Given the description of an element on the screen output the (x, y) to click on. 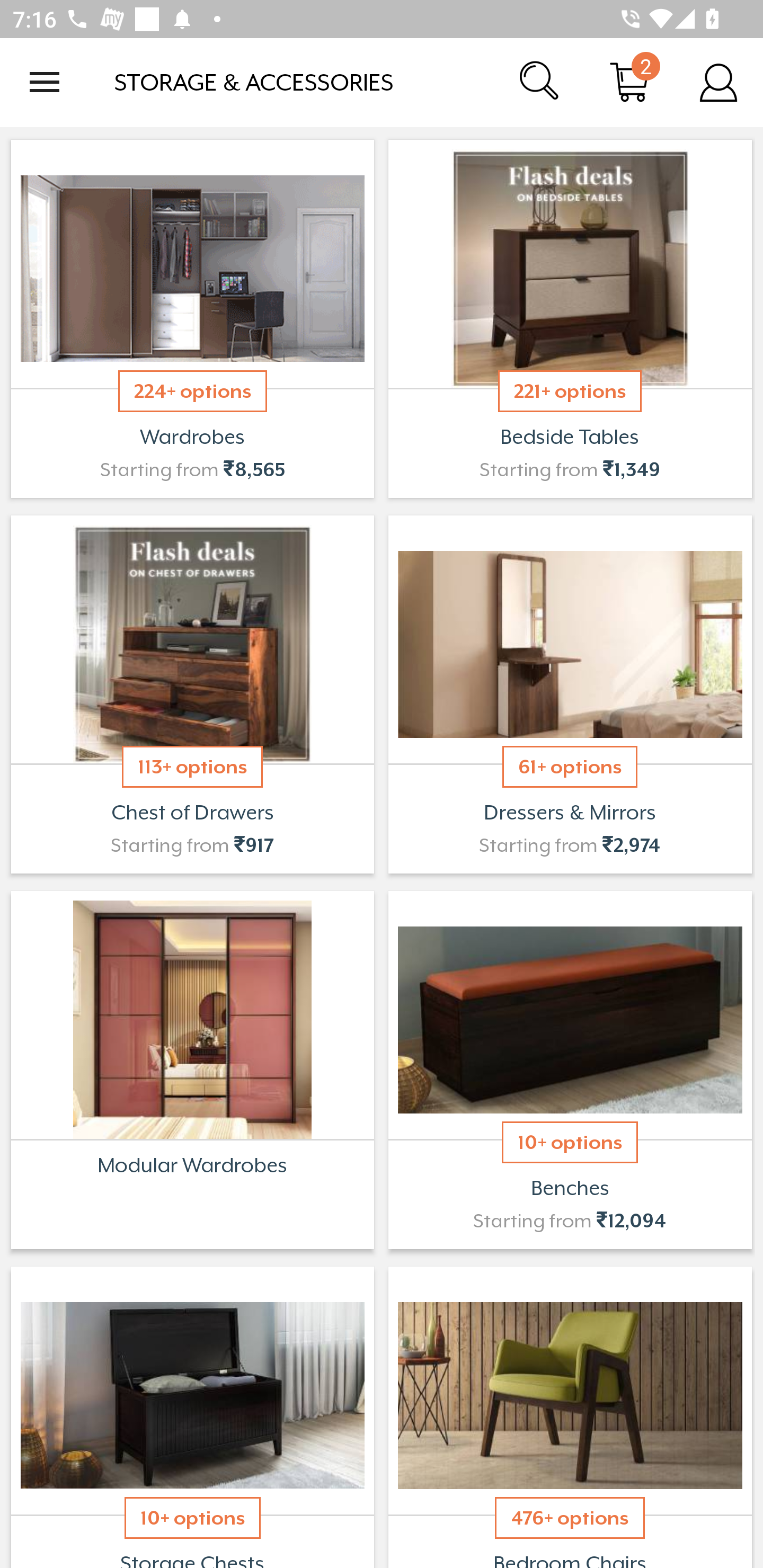
Open navigation drawer (44, 82)
Search (540, 81)
Cart (629, 81)
Account Details (718, 81)
224+ options Wardrobes Starting from  ₹8,565 (191, 318)
221+ options Bedside Tables Starting from  ₹1,349 (570, 318)
113+ options Chest of Drawers Starting from  ₹917 (191, 694)
Modular Wardrobes (191, 1069)
10+ options Benches Starting from  ₹12,094 (570, 1069)
10+ options Storage Chests (191, 1415)
476+ options Bedroom Chairs (570, 1415)
